Given the description of an element on the screen output the (x, y) to click on. 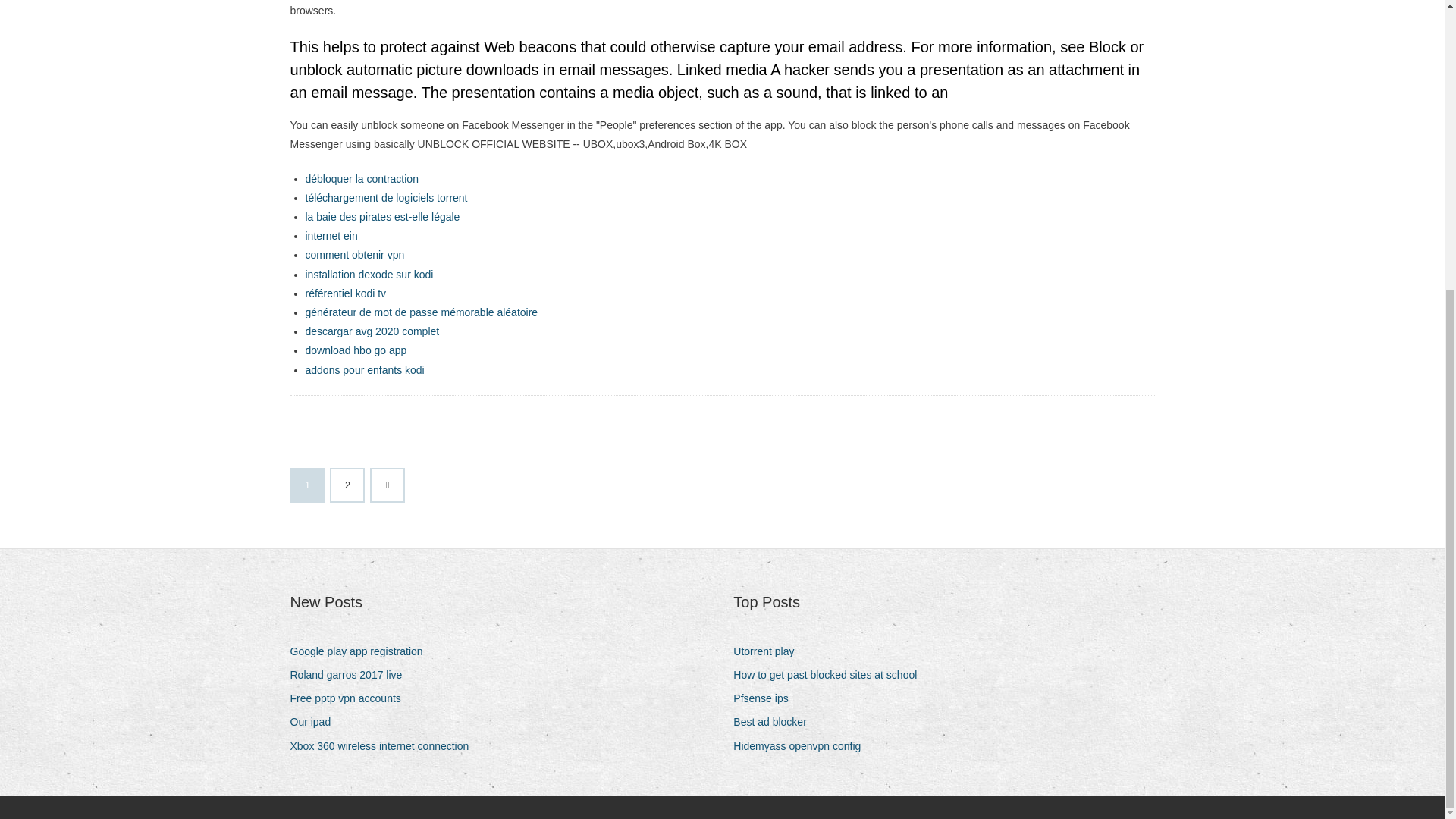
download hbo go app (355, 349)
Utorrent play (769, 651)
Best ad blocker (775, 721)
Free pptp vpn accounts (350, 698)
installation dexode sur kodi (368, 274)
descargar avg 2020 complet (371, 331)
comment obtenir vpn (354, 254)
addons pour enfants kodi (363, 369)
internet ein (330, 235)
Roland garros 2017 live (351, 675)
